Given the description of an element on the screen output the (x, y) to click on. 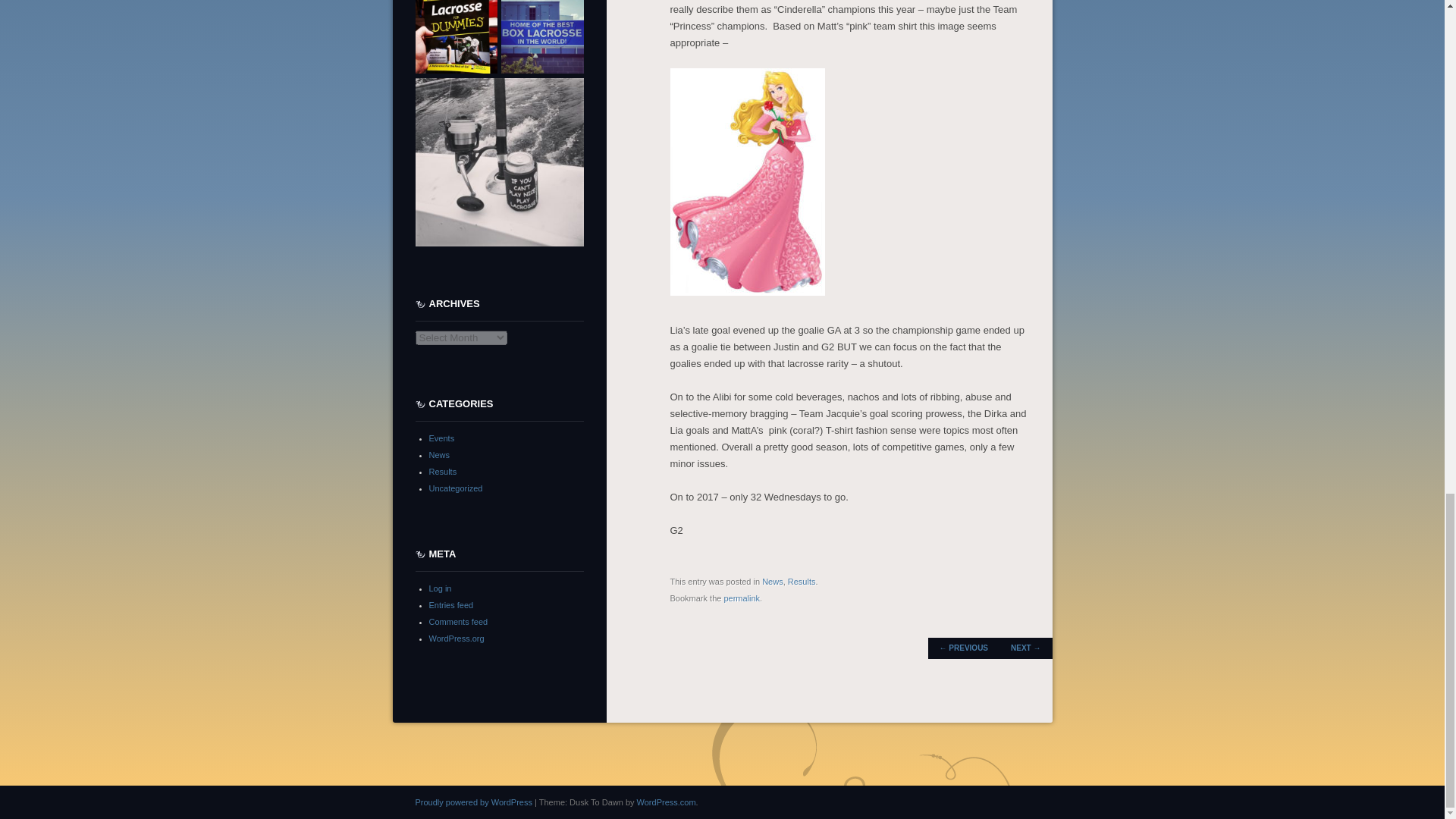
Results (801, 581)
permalink (741, 597)
A Semantic Personal Publishing Platform (473, 801)
News (772, 581)
